Given the description of an element on the screen output the (x, y) to click on. 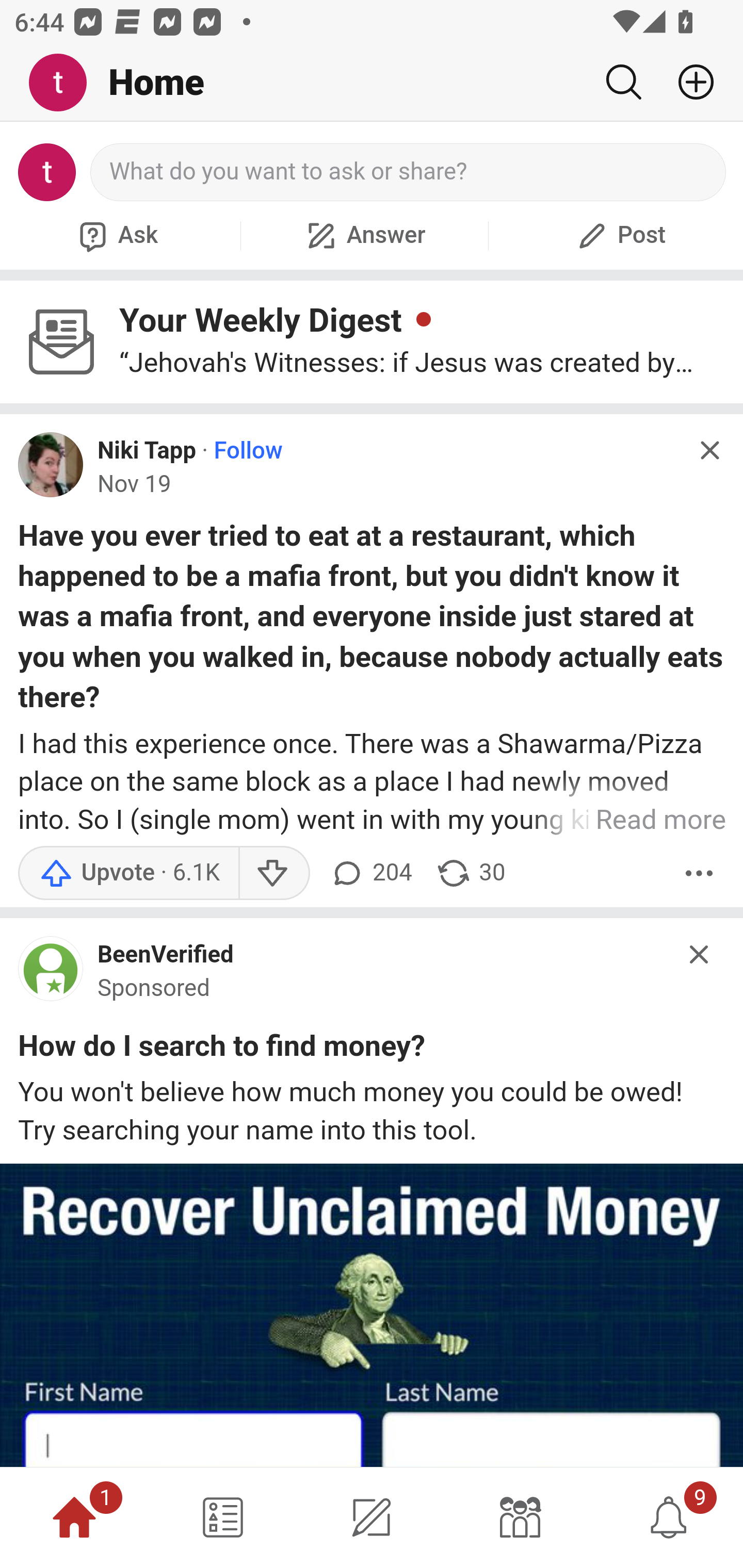
Me Home Search Add (371, 82)
Me (64, 83)
Search (623, 82)
Add (688, 82)
9 (668, 1517)
